Given the description of an element on the screen output the (x, y) to click on. 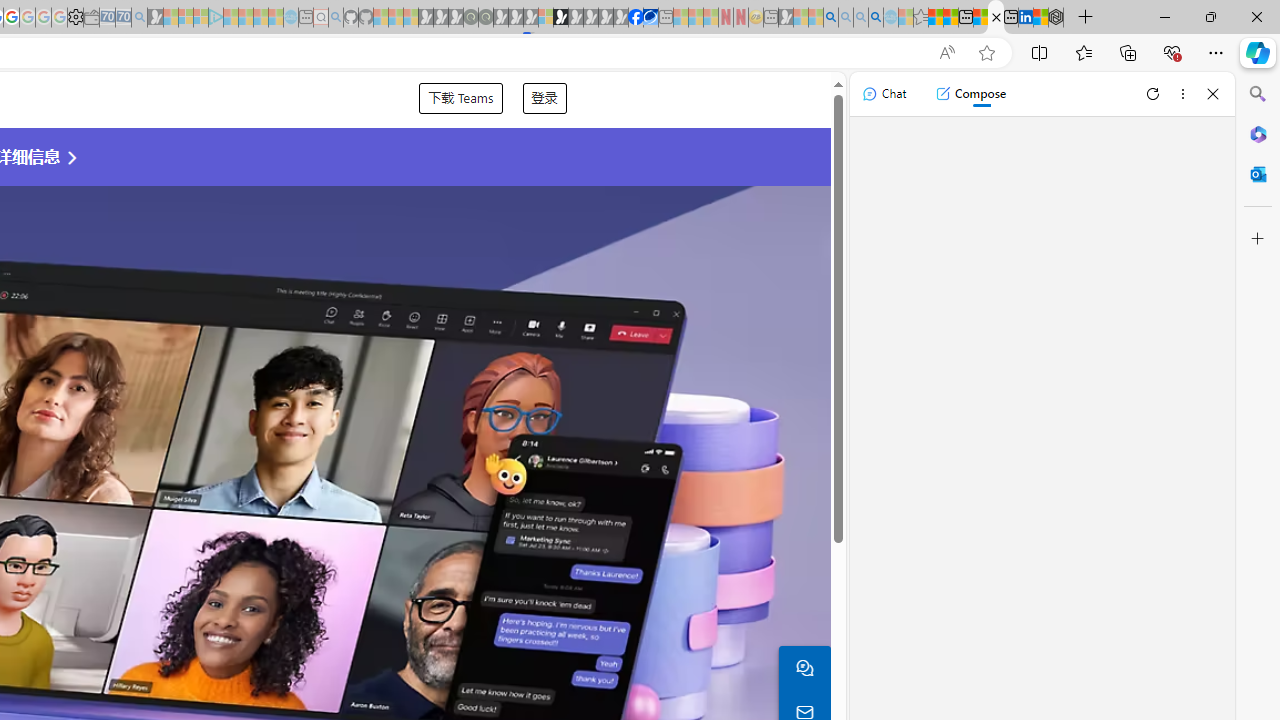
Bing AI - Search (831, 17)
github - Search - Sleeping (336, 17)
